Given the description of an element on the screen output the (x, y) to click on. 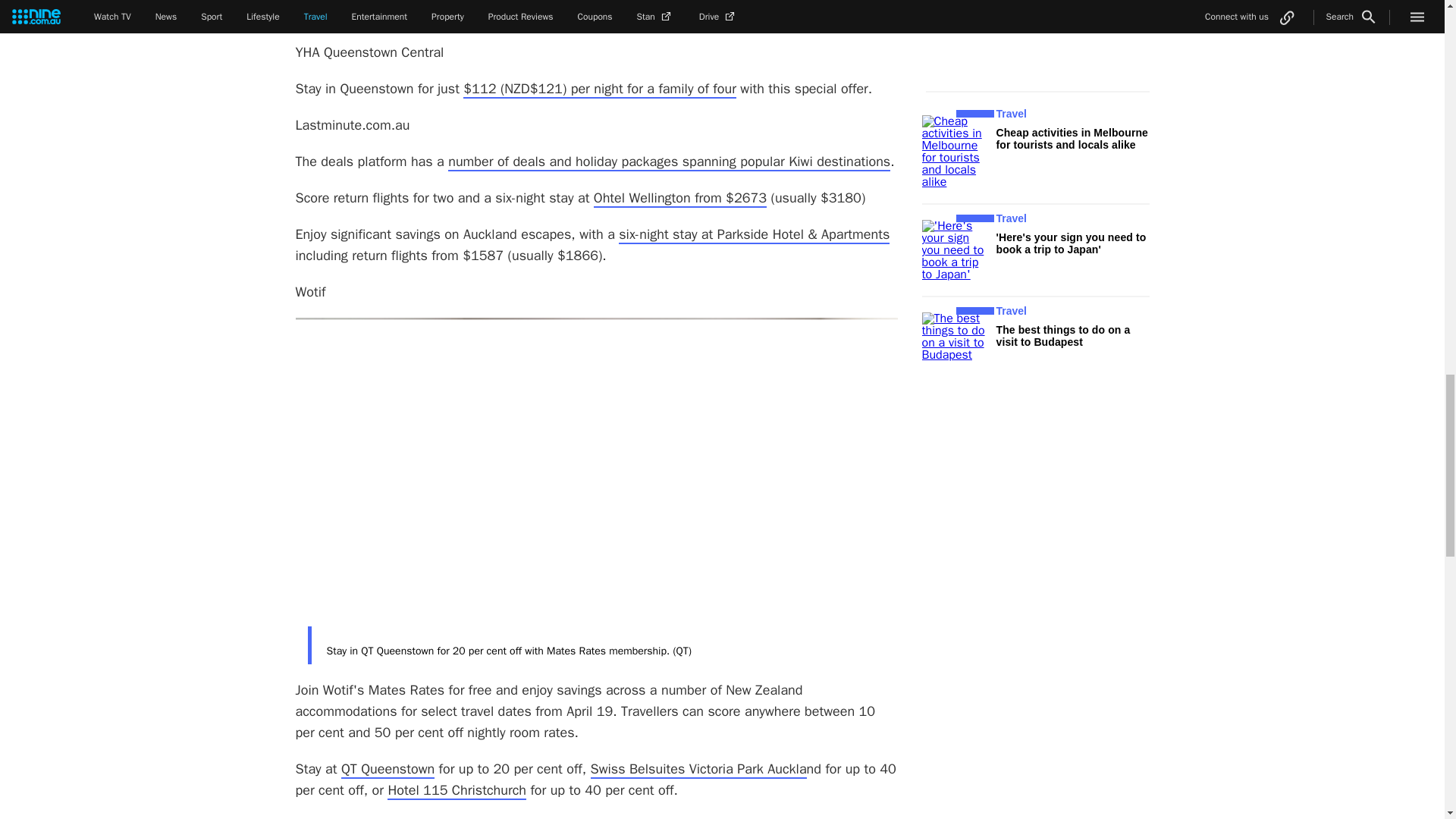
QT Queenstown (386, 769)
number of deals spanning Kiwi destinations (668, 162)
Hotel 115 Christchurch (456, 791)
'Sweet as' South (531, 2)
Swiss Belsuites Victoria Park Auckla (698, 769)
